Given the description of an element on the screen output the (x, y) to click on. 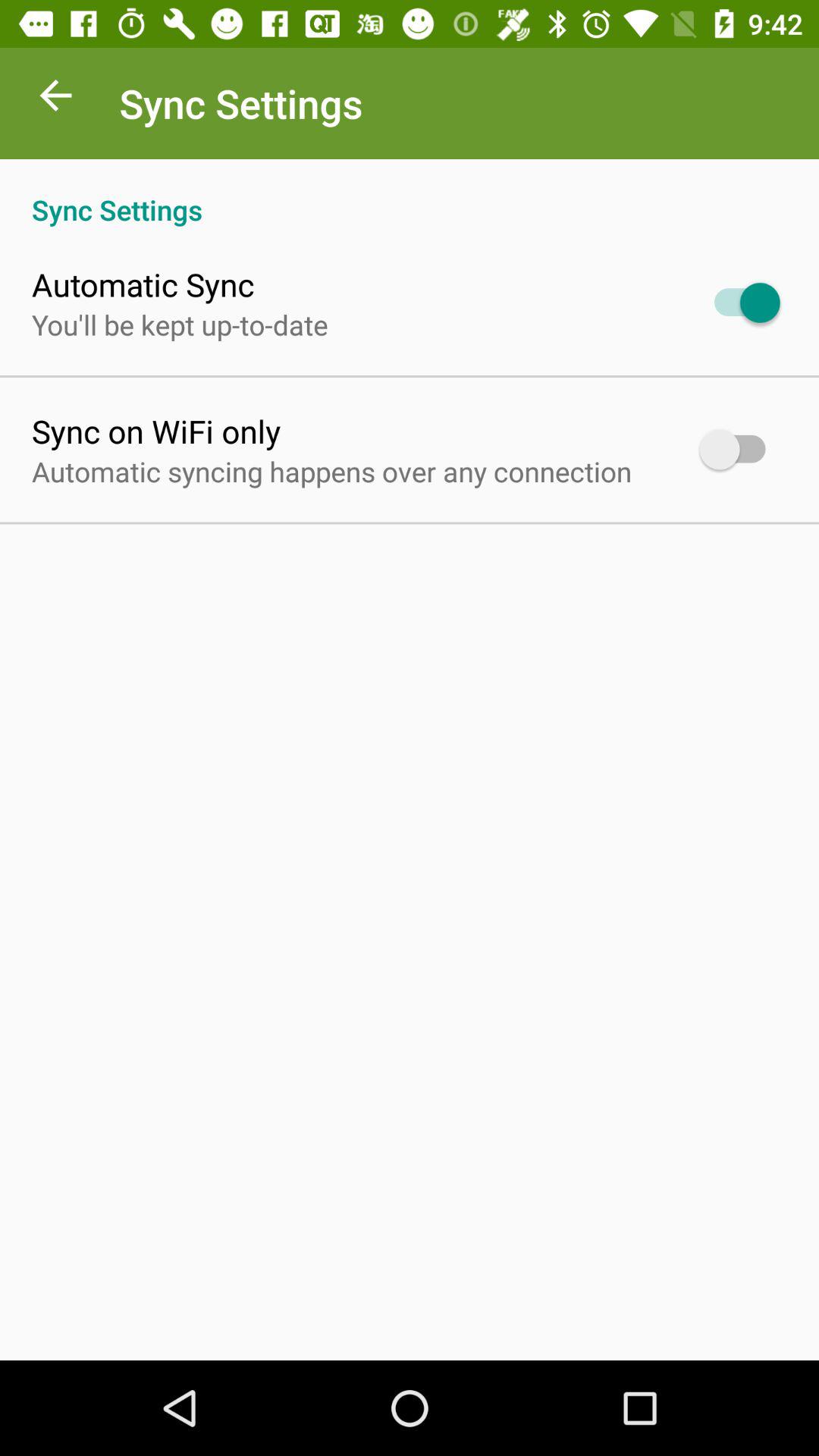
flip until automatic sync item (142, 283)
